Given the description of an element on the screen output the (x, y) to click on. 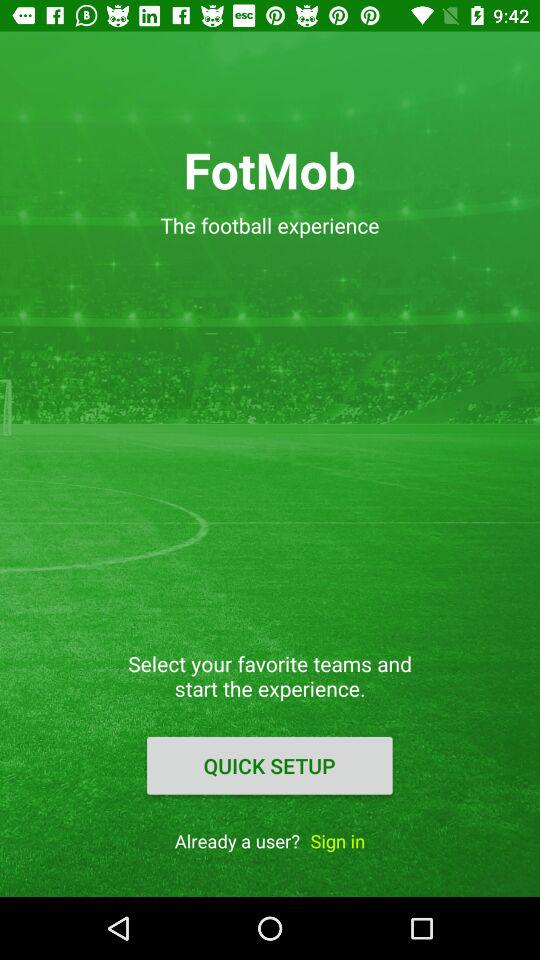
scroll to sign in item (337, 840)
